Given the description of an element on the screen output the (x, y) to click on. 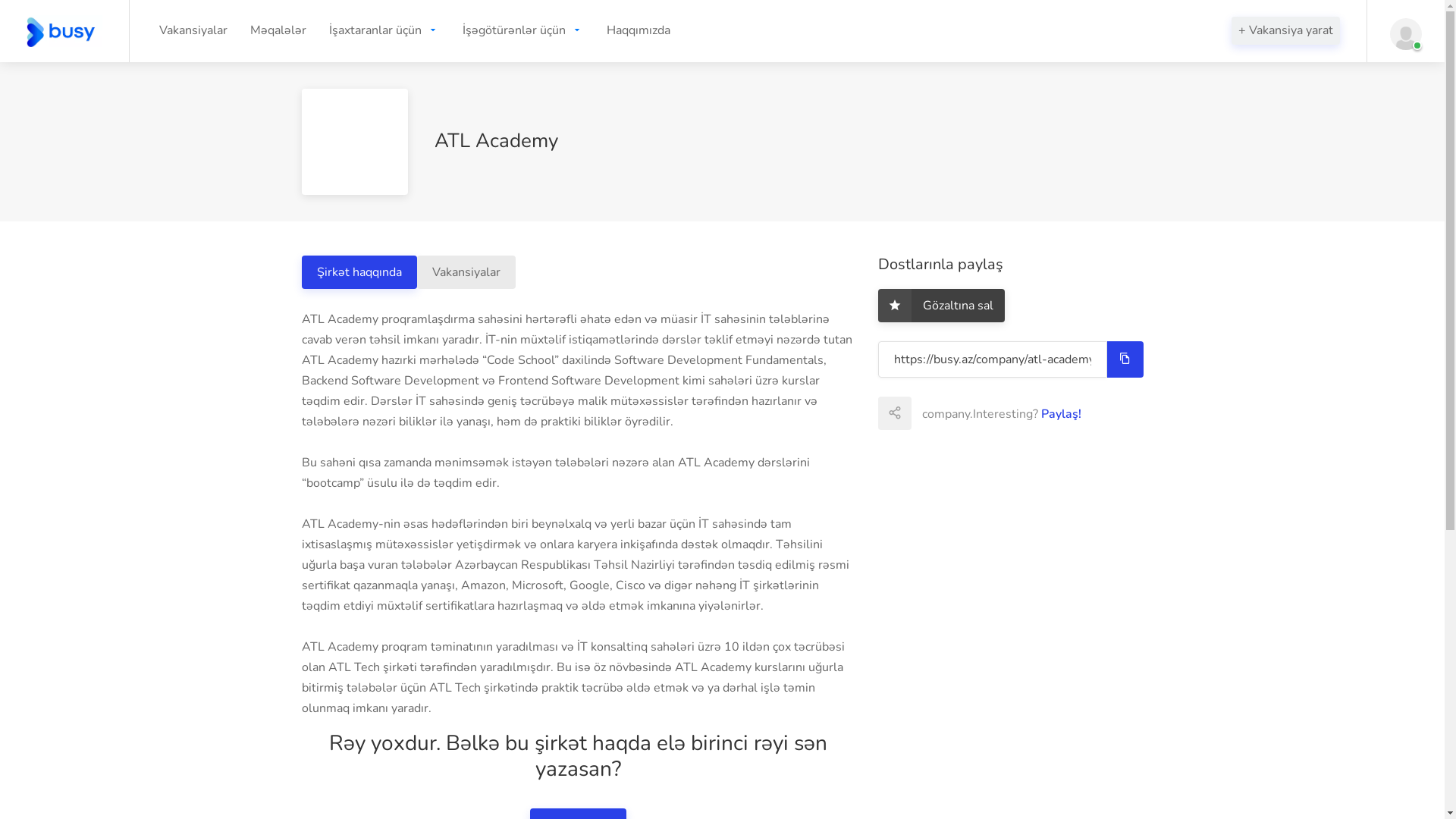
+ Vakansiya yarat Element type: text (1285, 30)
Vakansiyalar Element type: text (466, 271)
Vakansiyalar Element type: text (192, 30)
